Given the description of an element on the screen output the (x, y) to click on. 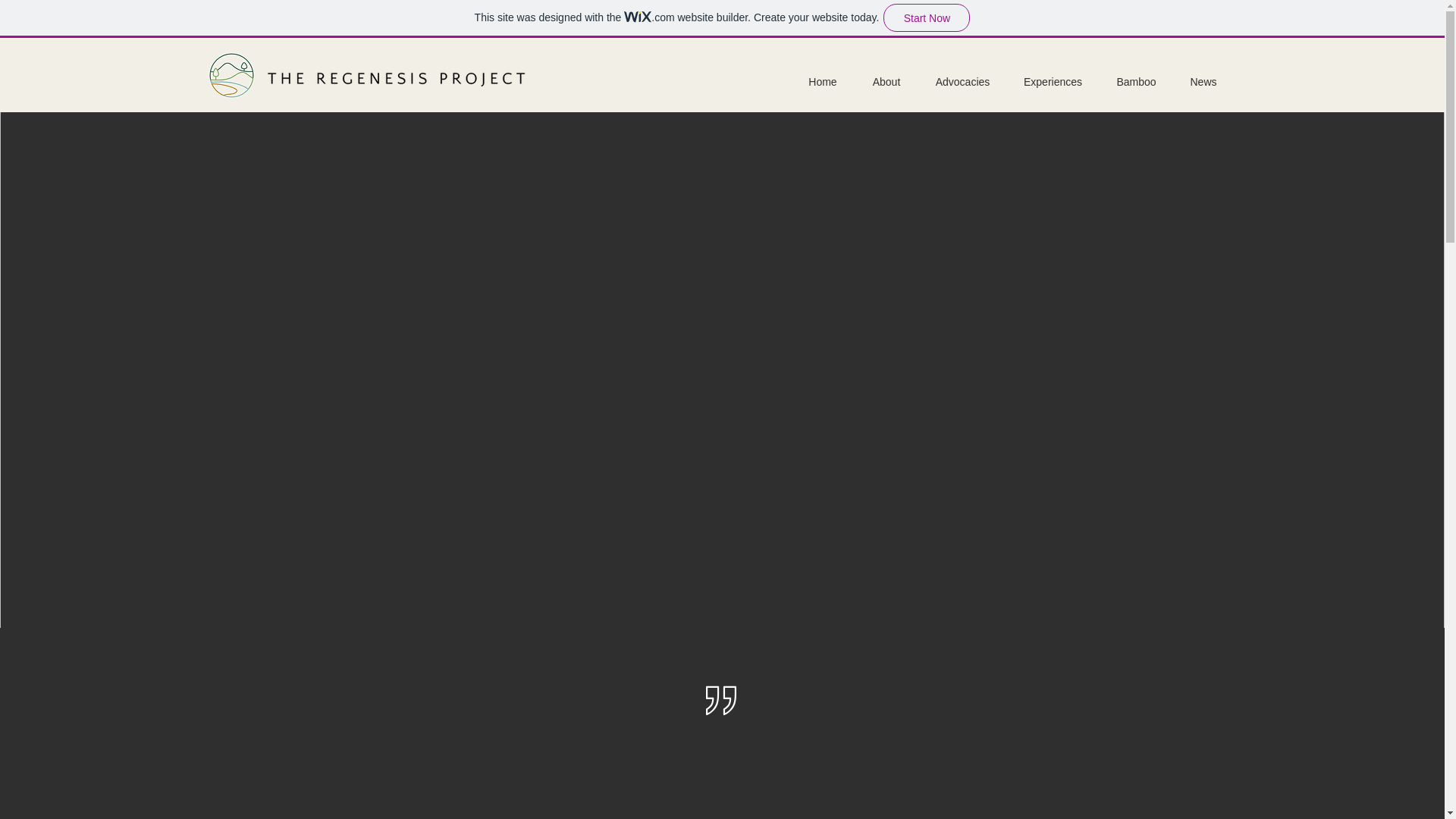
Home (823, 81)
Experiences (1053, 81)
Bamboo (1136, 81)
News (1203, 81)
Advocacies (962, 81)
About (885, 81)
